Given the description of an element on the screen output the (x, y) to click on. 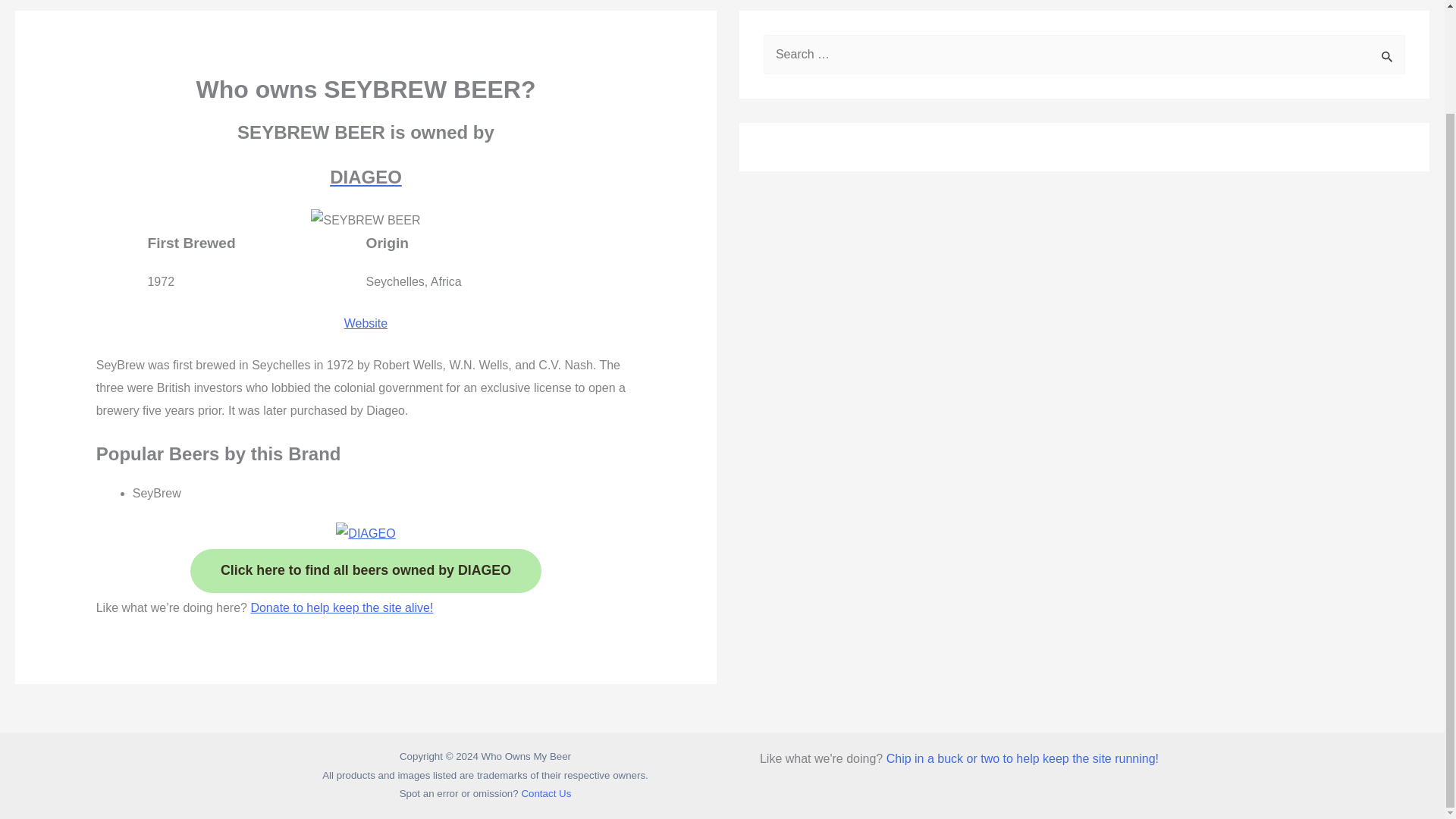
DIAGEO (366, 177)
Website (365, 323)
Contact Us (545, 793)
Click here to find all beers owned by DIAGEO (365, 570)
Chip in a buck or two to help keep the site running! (1022, 758)
Donate to help keep the site alive! (341, 607)
